Given the description of an element on the screen output the (x, y) to click on. 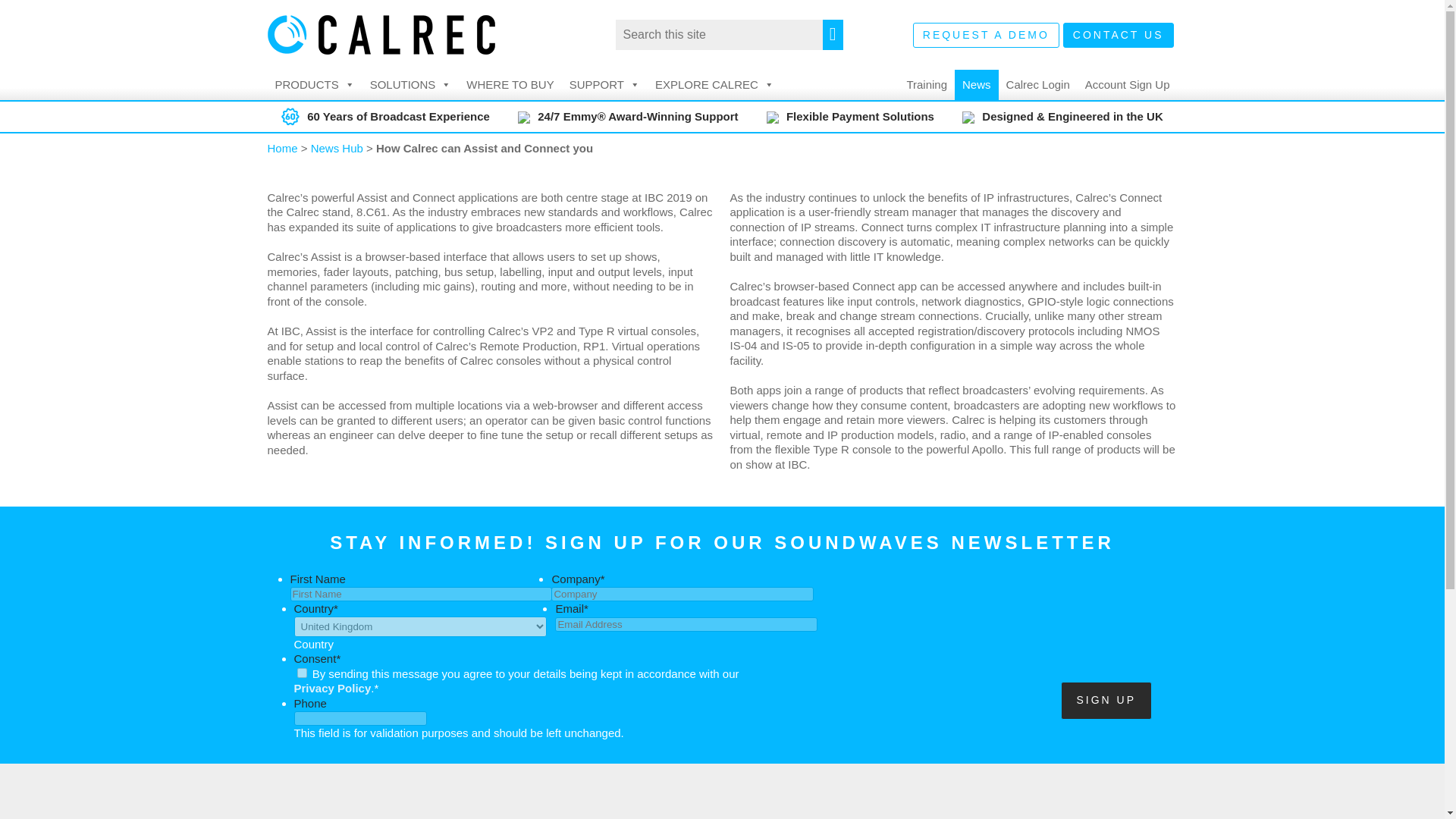
PRODUCTS (313, 84)
1 (302, 672)
Training (926, 84)
REQUEST A DEMO (985, 34)
Sign Up (1105, 699)
Account Sign Up (1127, 84)
News (976, 84)
CONTACT US (1117, 34)
Enter search term (729, 34)
Calrec Login (1037, 84)
